Given the description of an element on the screen output the (x, y) to click on. 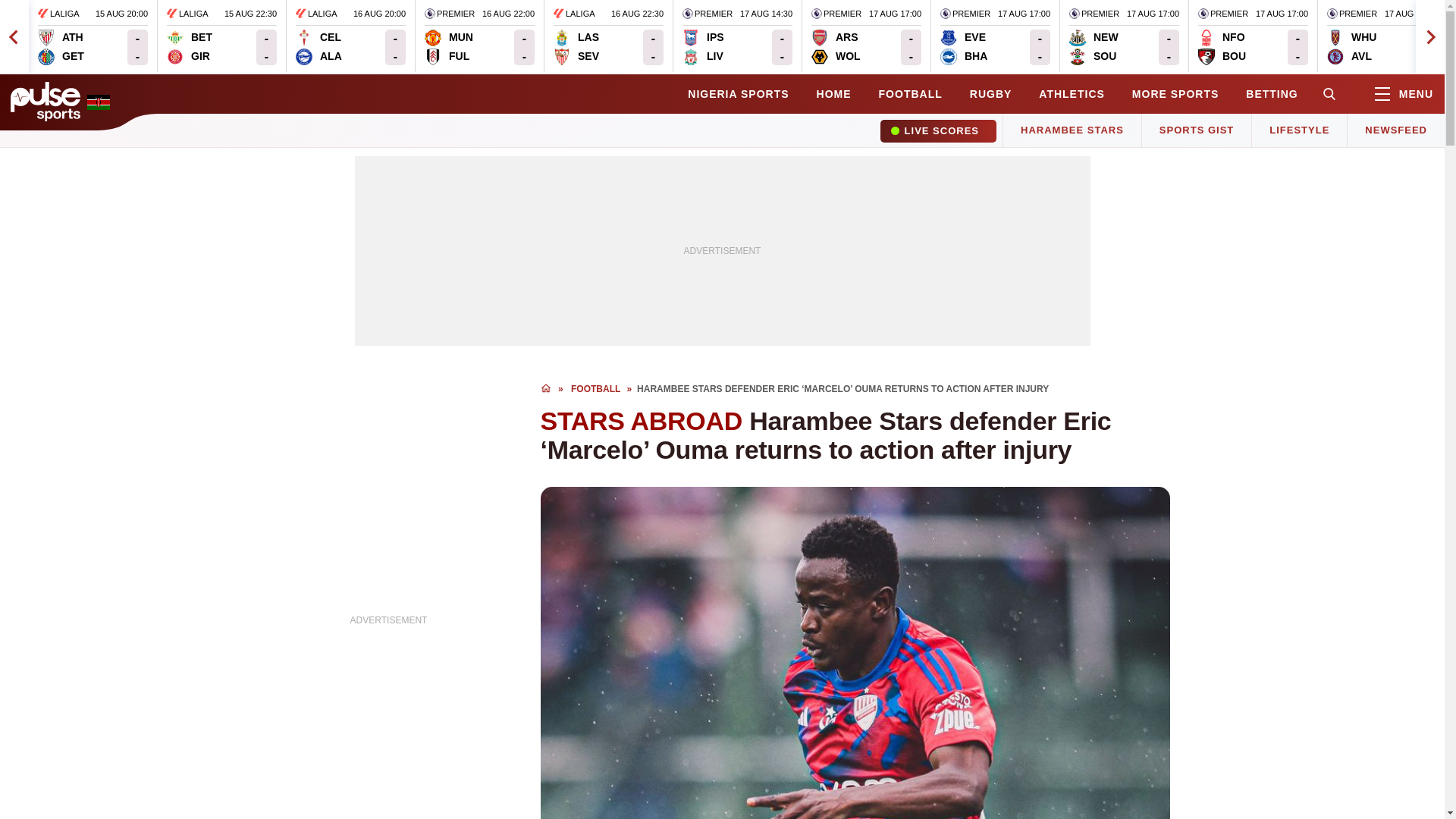
Manchester United - Fulham (449, 47)
Premier League (1123, 36)
Premier League (835, 13)
Premier League (1222, 13)
Nottingham Forest - AFC Bournemouth (707, 13)
Real Betis - Girona (1222, 47)
Premier League (994, 36)
Ipswich Town - Liverpool (737, 36)
Celta Vigo - Deportivo Alaves (478, 36)
